Given the description of an element on the screen output the (x, y) to click on. 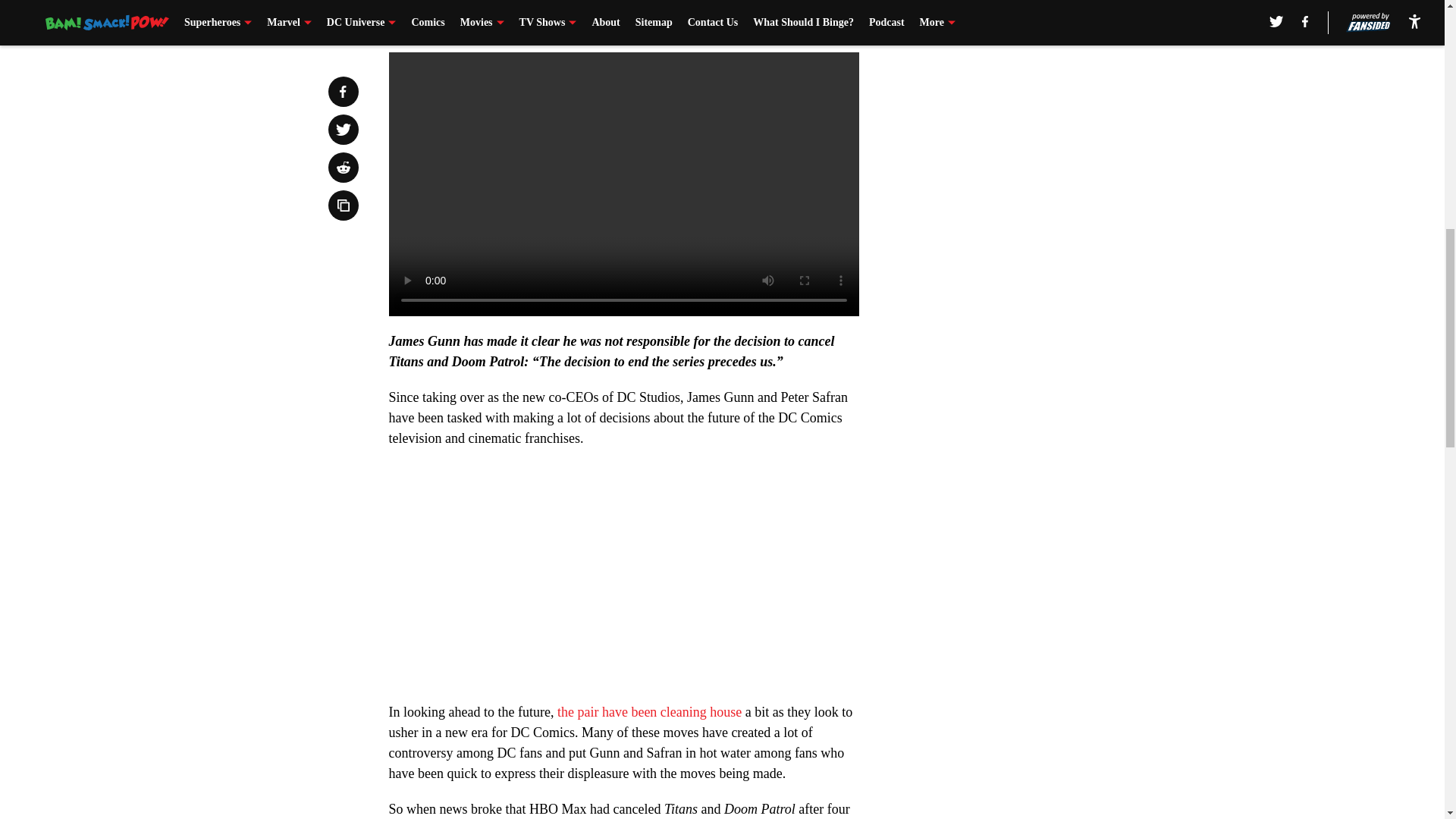
the pair have been cleaning house (649, 711)
3rd party ad content (1047, 145)
3rd party ad content (1047, 366)
